Given the description of an element on the screen output the (x, y) to click on. 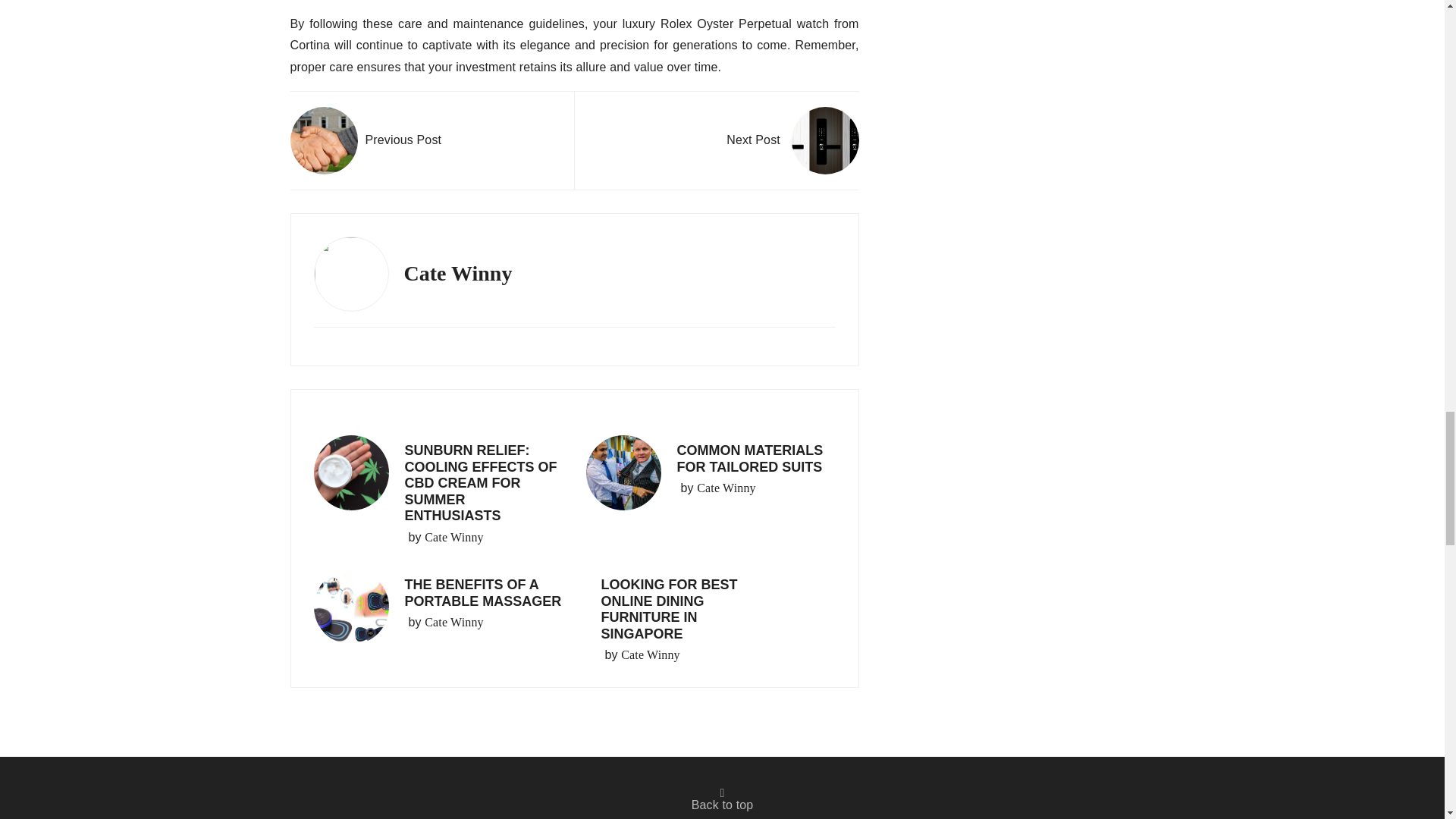
Cate Winny (454, 622)
Cate Winny (650, 655)
LOOKING FOR BEST ONLINE DINING FURNITURE IN SINGAPORE (667, 609)
Next Post (792, 140)
Previous Post (365, 140)
Cate Winny (454, 537)
COMMON MATERIALS FOR TAILORED SUITS (749, 459)
THE BENEFITS OF A PORTABLE MASSAGER (483, 593)
Cate Winny (726, 488)
